Given the description of an element on the screen output the (x, y) to click on. 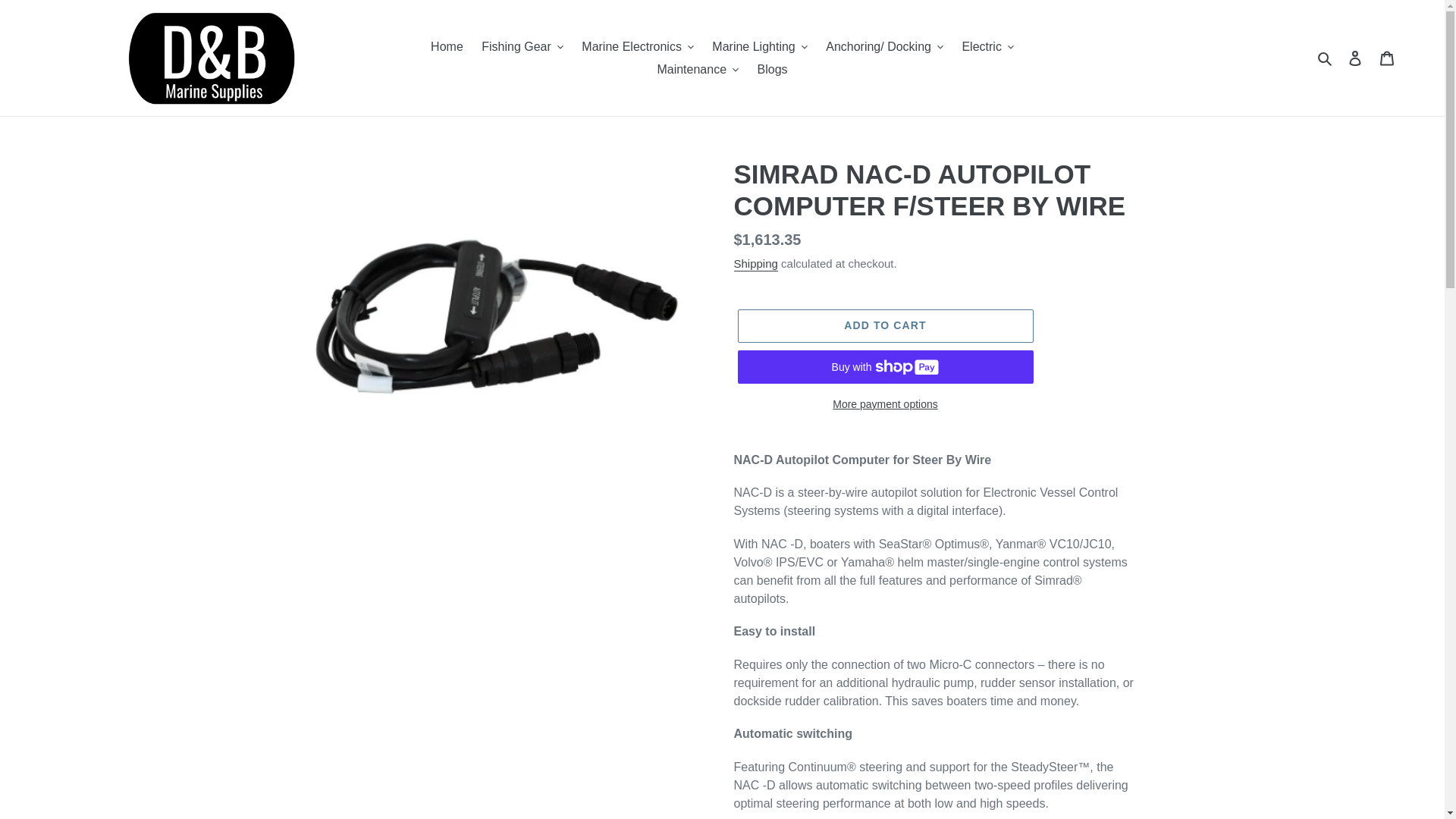
Fishing Gear (522, 46)
Marine Electronics (637, 46)
Home (446, 46)
